Given the description of an element on the screen output the (x, y) to click on. 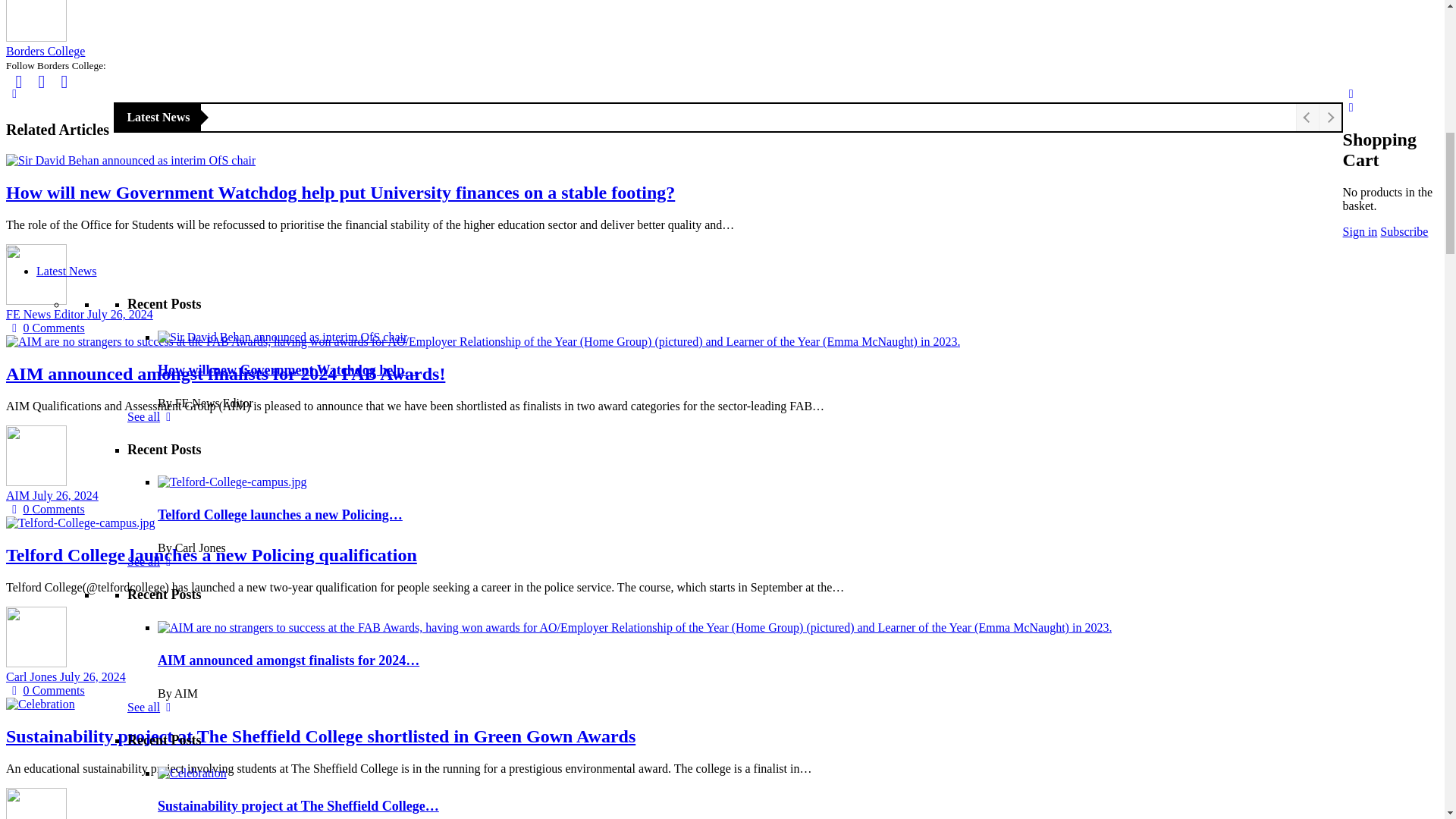
See all (152, 465)
See all (152, 320)
Subscribe (166, 162)
Skills and Apprenticeships - News and Insights (242, 133)
Exclusives (62, 174)
Work and leadership (177, 120)
EdTech - News on Education Technology (228, 92)
See all (152, 33)
Sign in (240, 162)
